Given the description of an element on the screen output the (x, y) to click on. 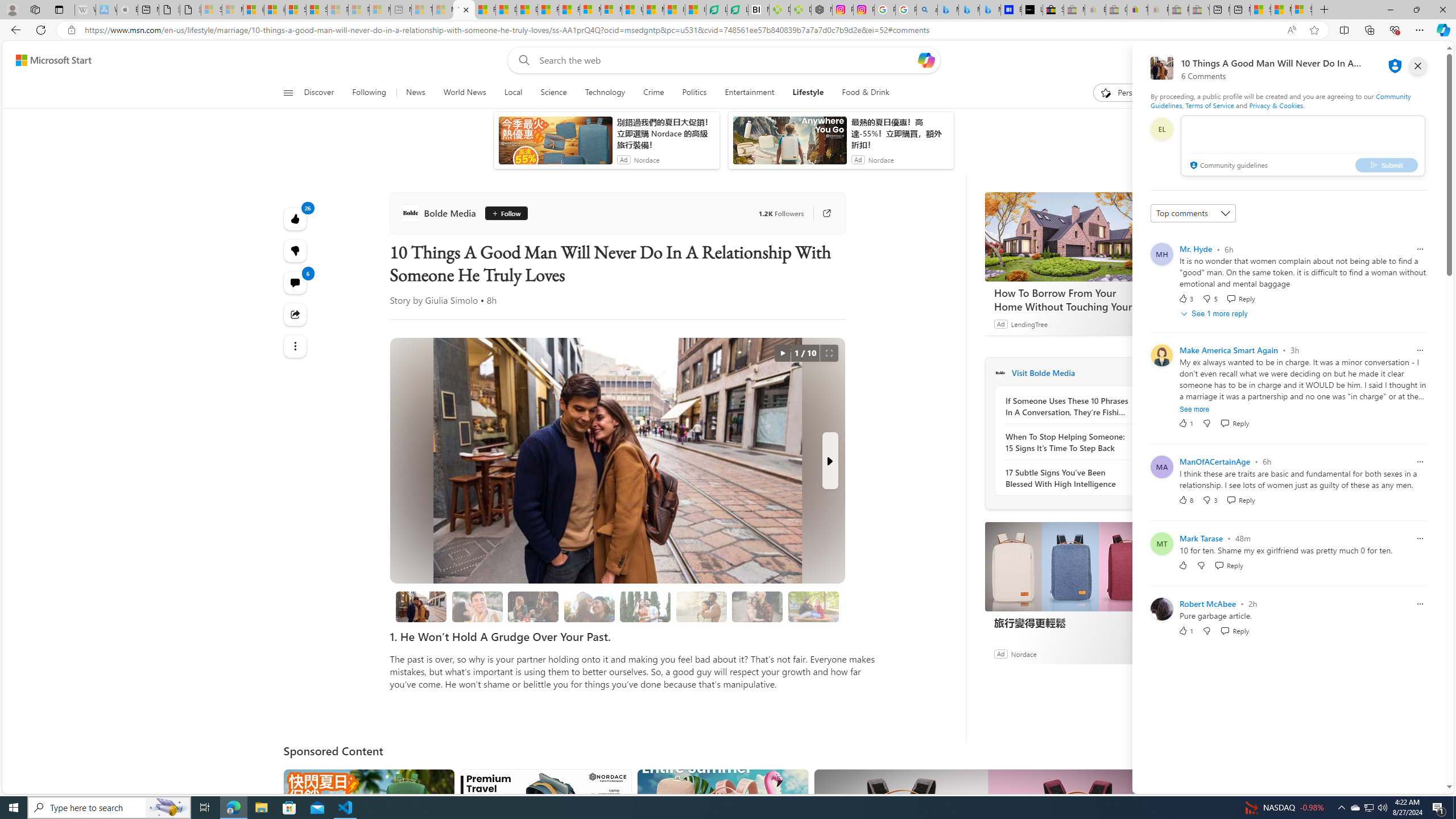
ManOfACertainAge (1214, 461)
Skip to footer (46, 59)
Web search (520, 60)
comment-box (1302, 145)
World News (464, 92)
close (1417, 65)
Science (553, 92)
Bolde Media (440, 212)
anim-content (789, 144)
